Given the description of an element on the screen output the (x, y) to click on. 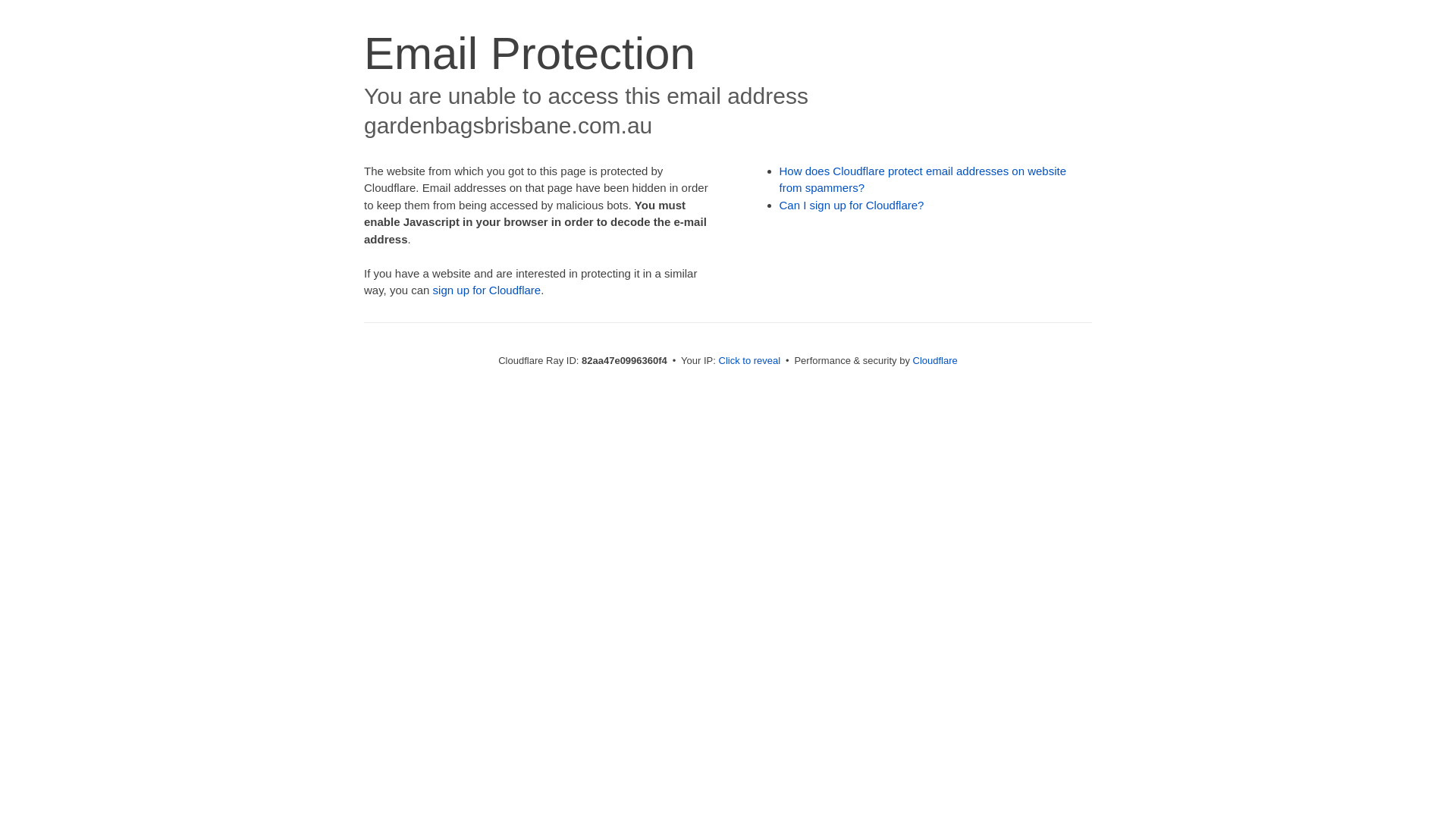
Can I sign up for Cloudflare? Element type: text (851, 204)
Click to reveal Element type: text (749, 360)
Cloudflare Element type: text (935, 360)
sign up for Cloudflare Element type: text (487, 289)
